Given the description of an element on the screen output the (x, y) to click on. 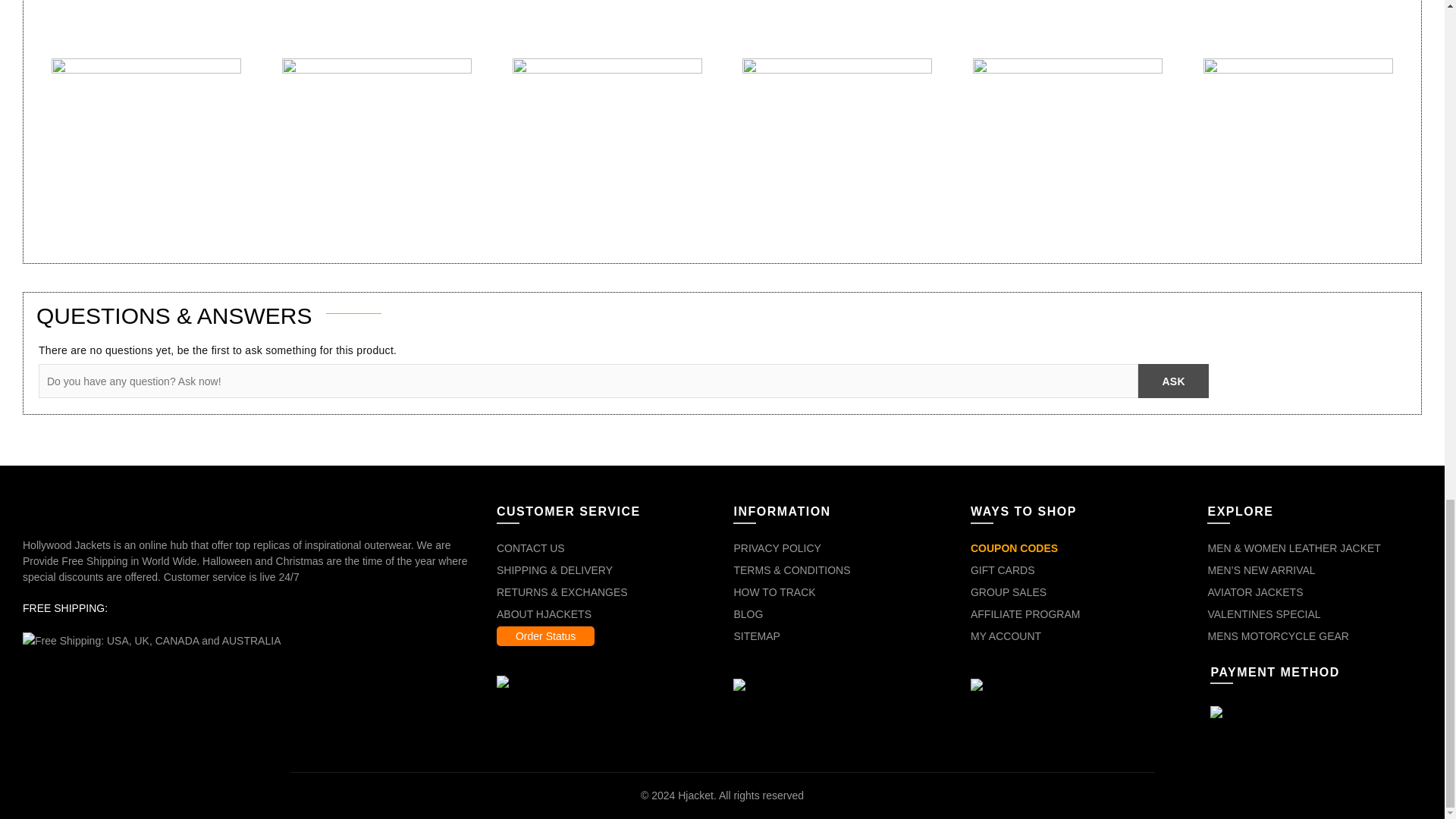
Ask (1173, 380)
Ask your question (1173, 380)
